Given the description of an element on the screen output the (x, y) to click on. 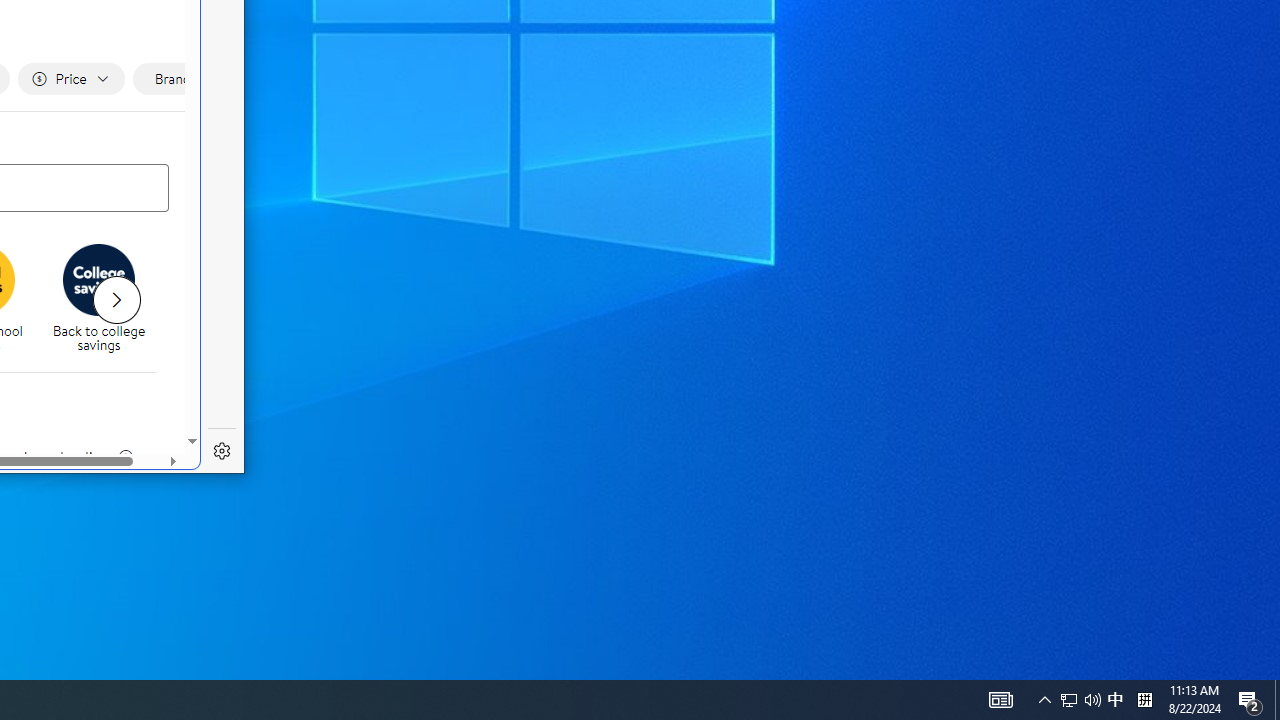
Action Center, 2 new notifications (1250, 699)
Back to college savings (106, 300)
Tray Input Indicator - Chinese (Simplified, China) (1144, 699)
